Given the description of an element on the screen output the (x, y) to click on. 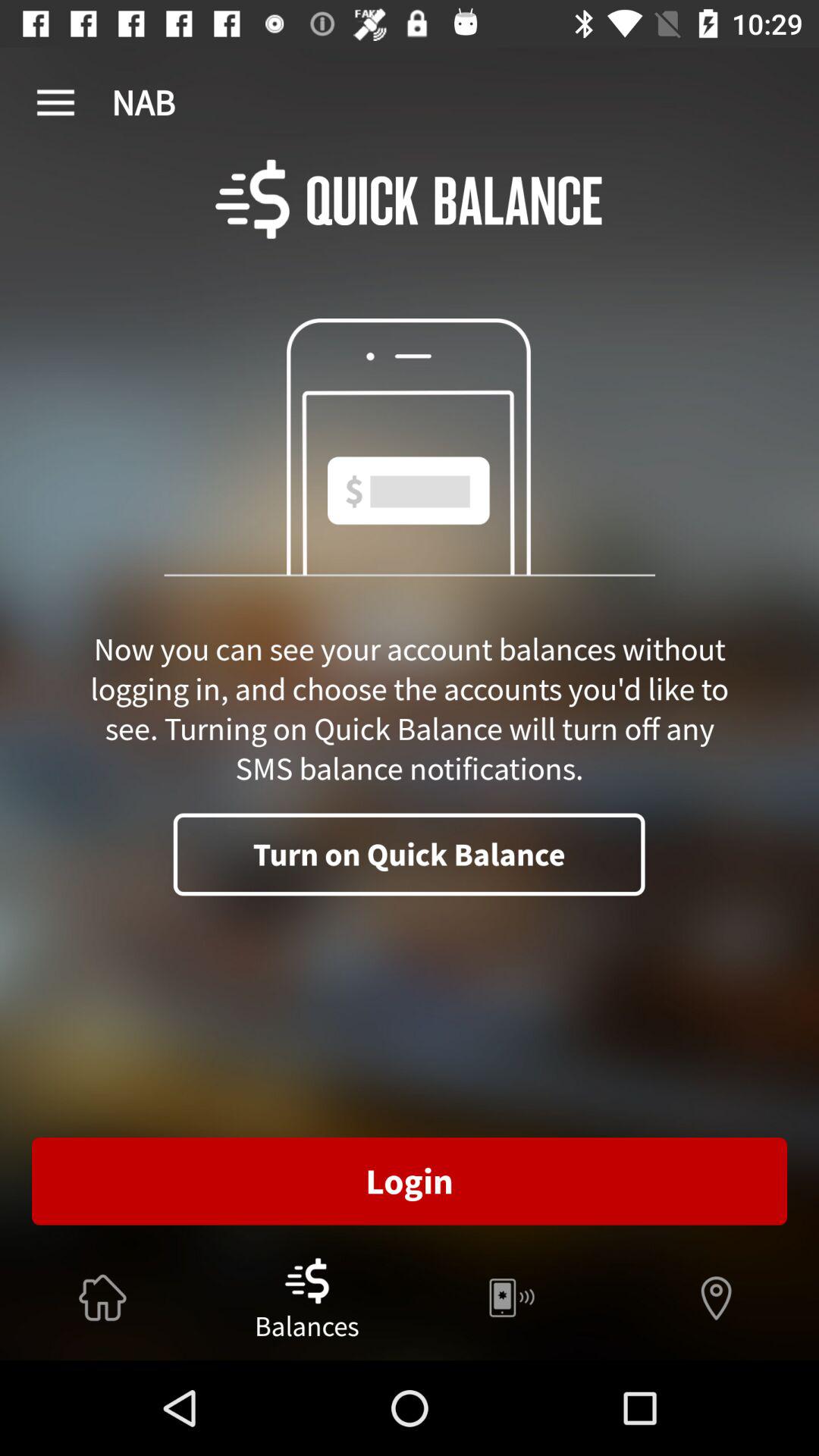
swipe to the login (409, 1181)
